Given the description of an element on the screen output the (x, y) to click on. 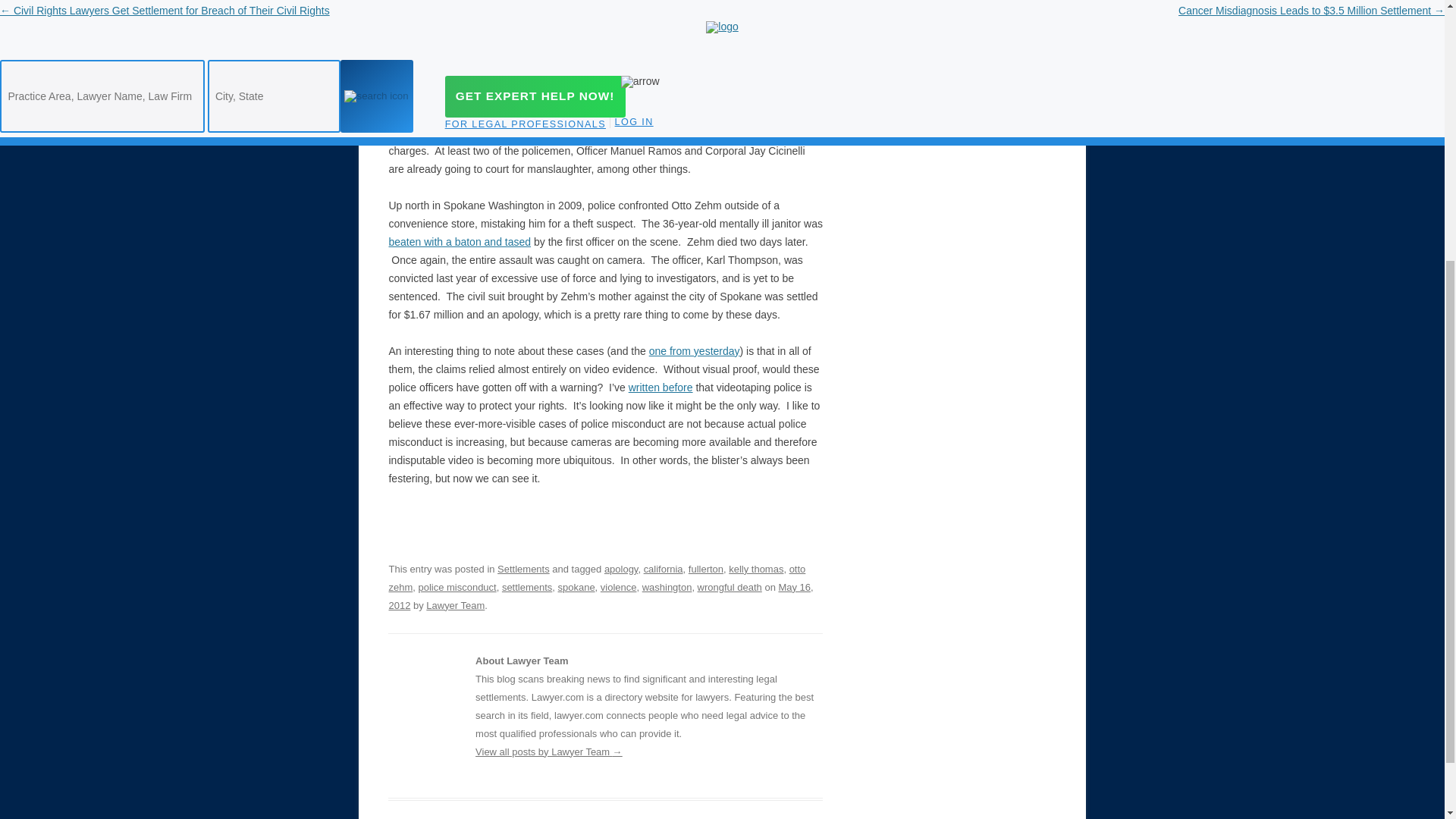
here (588, 96)
May 16, 2012 (600, 595)
police misconduct (456, 586)
apology (621, 568)
california (662, 568)
Settlements (523, 568)
fullerton (705, 568)
wrongful death (729, 586)
Full un-edited video presented in Kelly Thomas murder trial (588, 96)
violence (618, 586)
